Given the description of an element on the screen output the (x, y) to click on. 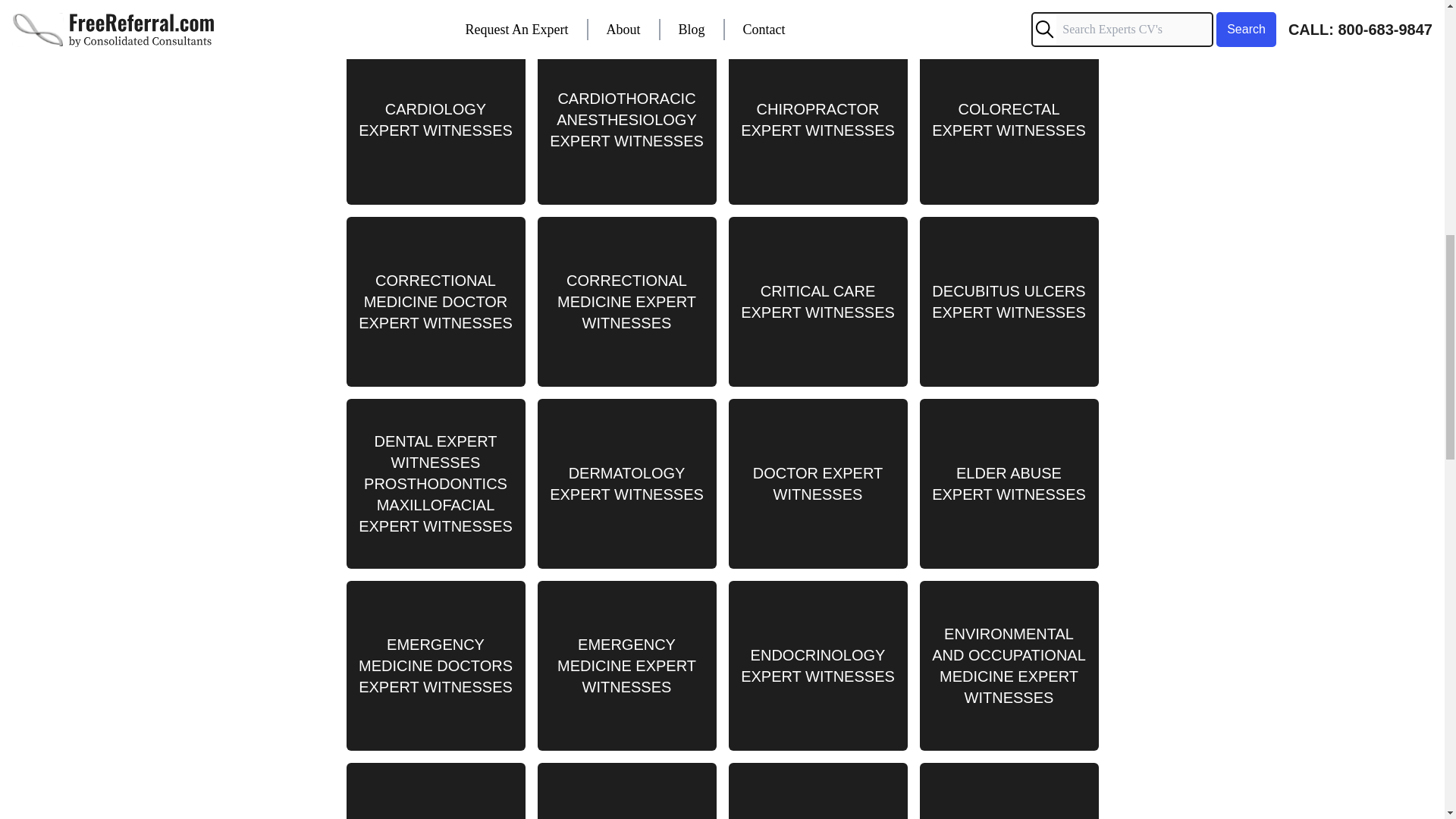
ENDOCRINOLOGY EXPERT WITNESSES (817, 665)
CARDIOLOGY EXPERT WITNESSES (435, 119)
FAMILY MEDICINE EXPERT WITNESSES (435, 790)
DOCTOR EXPERT WITNESSES (817, 483)
FAMILY PRACTICE PHYSICIANS EXPERT WITNESSES (817, 790)
FAMILY MEDICINE EXPERT WITNESSES (626, 790)
CHIROPRACTOR EXPERT WITNESSES (817, 119)
CARDIOLOGY DOCTORS EXPERT WITNESSES (1007, 11)
CORRECTIONAL MEDICINE DOCTOR EXPERT WITNESSES (435, 301)
ENVIRONMENTAL AND OCCUPATIONAL MEDICINE EXPERT WITNESSES (1007, 665)
